Given the description of an element on the screen output the (x, y) to click on. 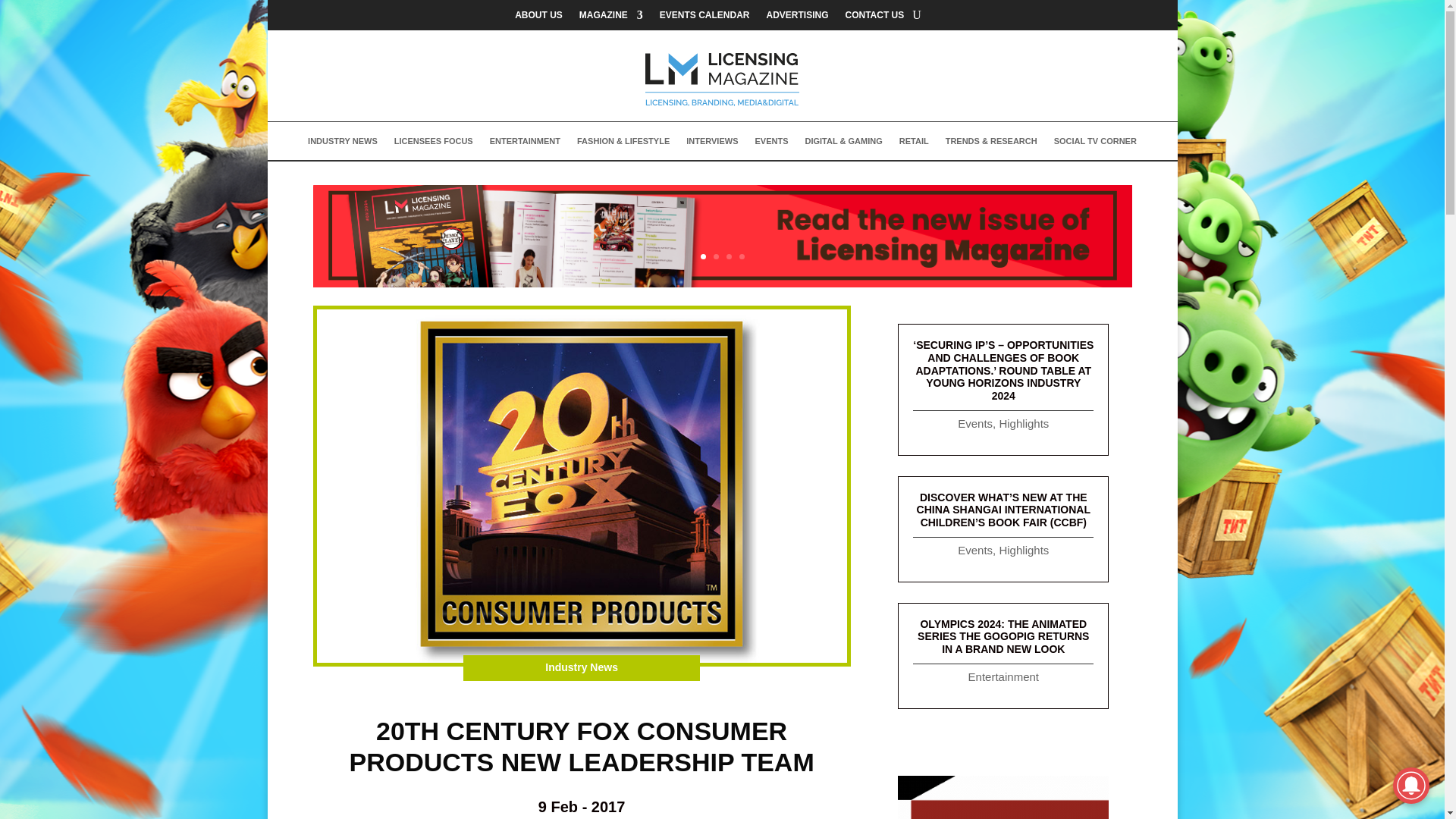
SOCIAL TV CORNER (1095, 143)
CONTACT US (874, 17)
INDUSTRY NEWS (342, 143)
ENTERTAINMENT (524, 143)
ADVERTISING (796, 17)
MAGAZINE (611, 17)
INTERVIEWS (711, 143)
LICENSEES FOCUS (433, 143)
ABOUT US (538, 17)
RETAIL (913, 143)
